Given the description of an element on the screen output the (x, y) to click on. 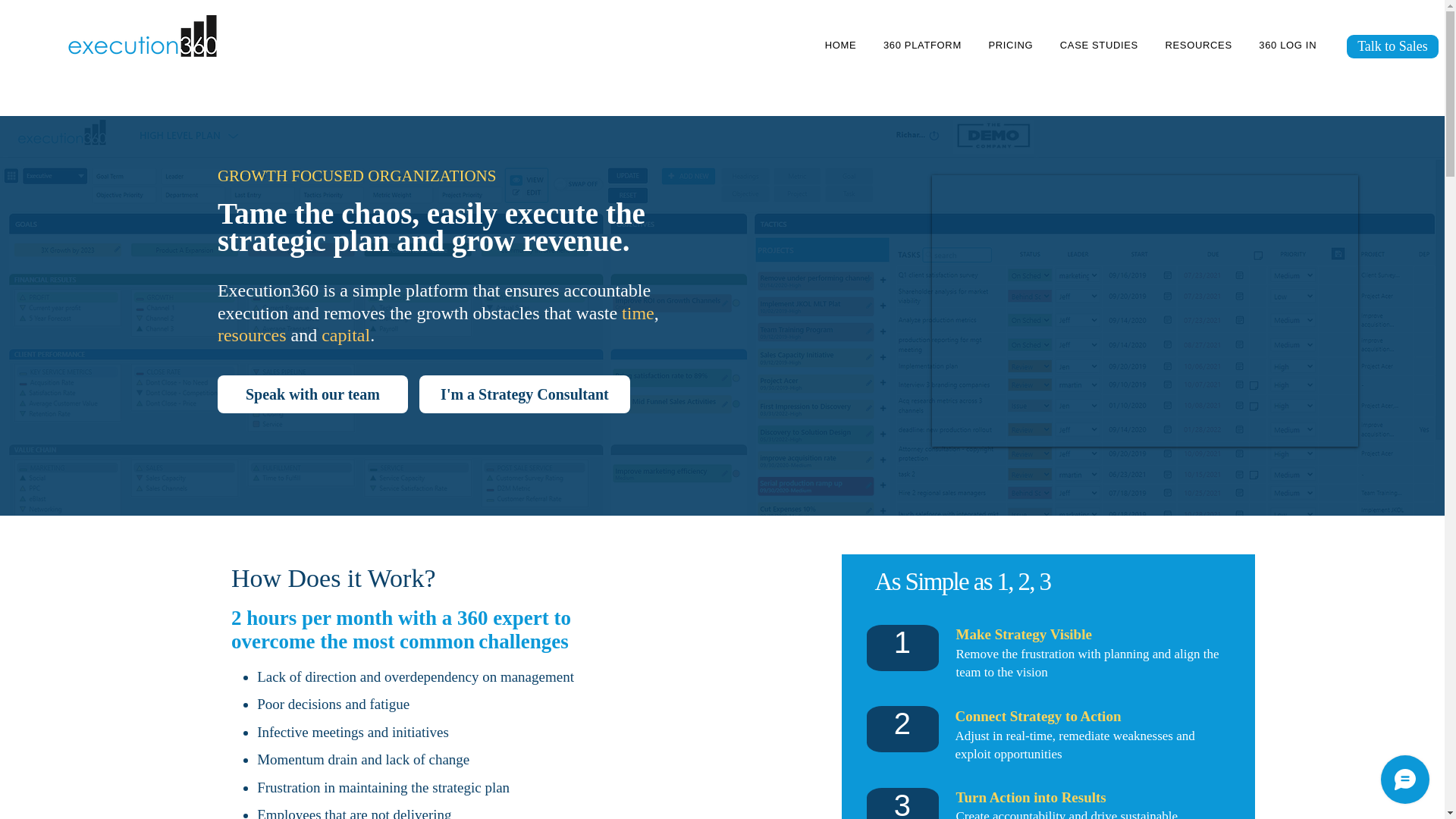
I'm a Strategy Consultant (524, 394)
Talk to Sales (1392, 46)
PRICING (1009, 45)
CASE STUDIES (1099, 45)
Speak with our team (311, 394)
HOME (840, 45)
360 PLATFORM (922, 45)
360 LOG IN (1287, 45)
